Given the description of an element on the screen output the (x, y) to click on. 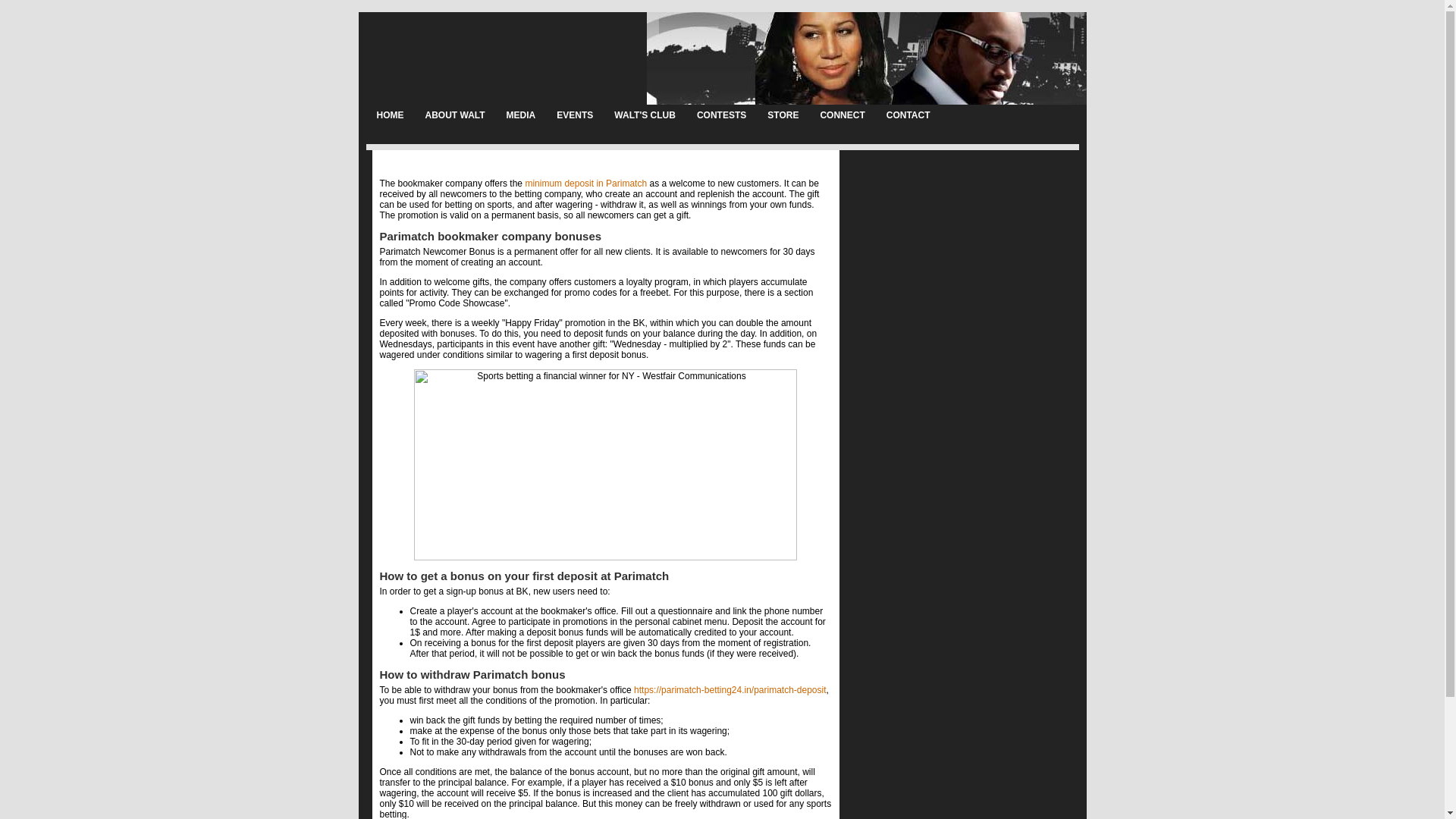
ABOUT WALT (454, 115)
WALT'S CLUB (644, 115)
MEDIA (521, 115)
CONTACT (908, 115)
CONNECT (842, 115)
CONTESTS (721, 115)
EVENTS (575, 115)
minimum deposit in Parimatch (585, 183)
HOME (389, 115)
STORE (783, 115)
